Given the description of an element on the screen output the (x, y) to click on. 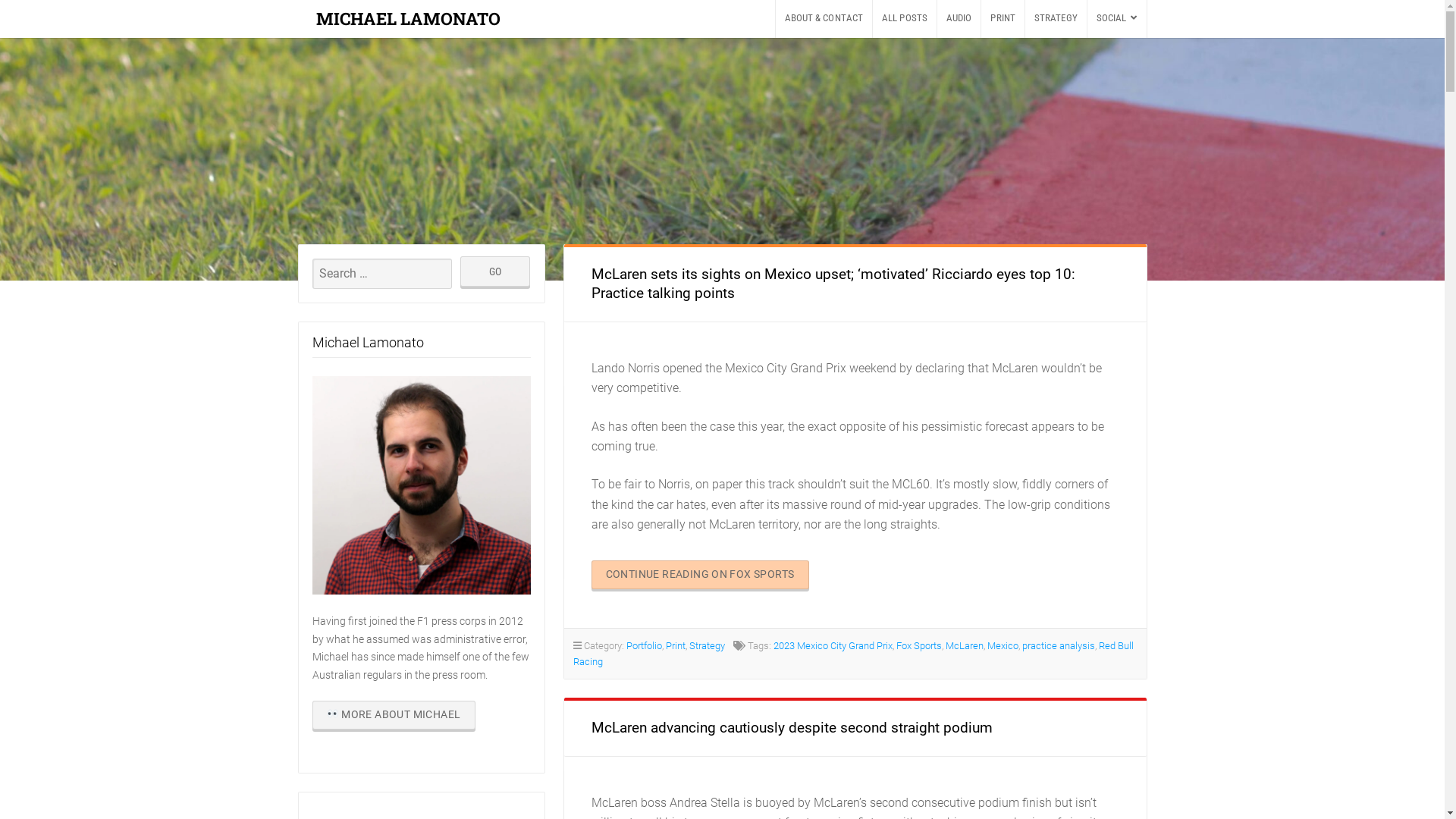
Fox Sports Element type: text (918, 645)
Mexico Element type: text (1002, 645)
AUDIO Element type: text (959, 18)
Portfolio Element type: text (644, 645)
ALL POSTS Element type: text (904, 18)
MORE ABOUT MICHAEL Element type: text (393, 714)
PRINT Element type: text (1002, 18)
Go Element type: text (495, 271)
McLaren Element type: text (963, 645)
2023 Mexico City Grand Prix Element type: text (832, 645)
CONTINUE READING ON FOX SPORTS Element type: text (700, 574)
ABOUT & CONTACT Element type: text (823, 18)
SOCIAL Element type: text (1116, 18)
McLaren advancing cautiously despite second straight podium Element type: text (791, 727)
MICHAEL LAMONATO Element type: text (407, 18)
STRATEGY Element type: text (1055, 18)
Strategy Element type: text (706, 645)
Red Bull Racing Element type: text (853, 653)
Print Element type: text (675, 645)
practice analysis Element type: text (1058, 645)
